Given the description of an element on the screen output the (x, y) to click on. 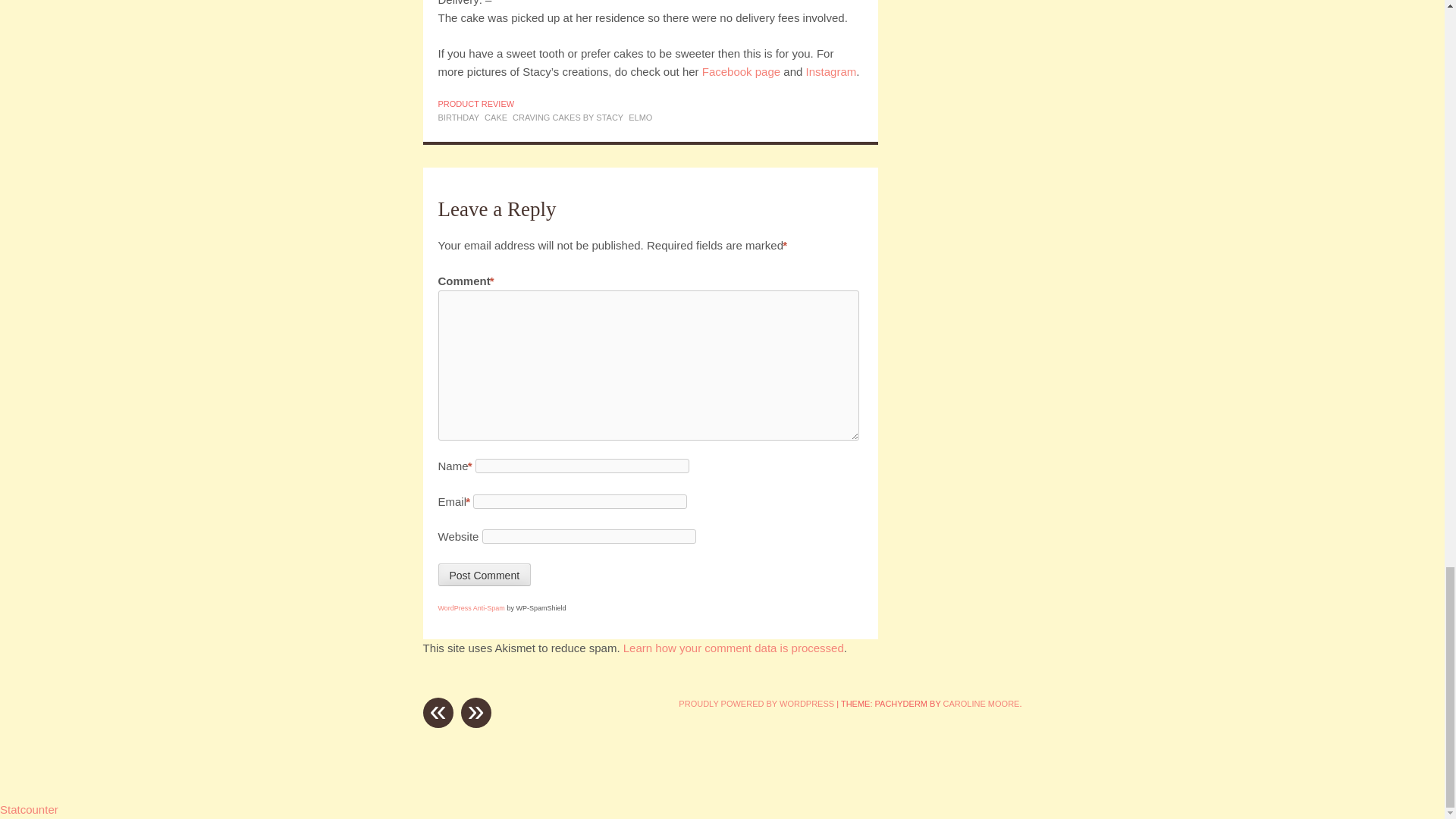
WordPress Anti-Spam (471, 607)
BIRTHDAY (459, 117)
CRAVING CAKES BY STACY (567, 117)
Instagram (831, 71)
Learn how your comment data is processed (733, 647)
Post Comment (484, 574)
CAKE (495, 117)
Post Comment (484, 574)
WP-SpamShield WordPress Anti-Spam Plugin (471, 607)
A Semantic Personal Publishing Platform (756, 703)
PRODUCT REVIEW (476, 103)
Facebook page (740, 71)
ELMO (640, 117)
